Given the description of an element on the screen output the (x, y) to click on. 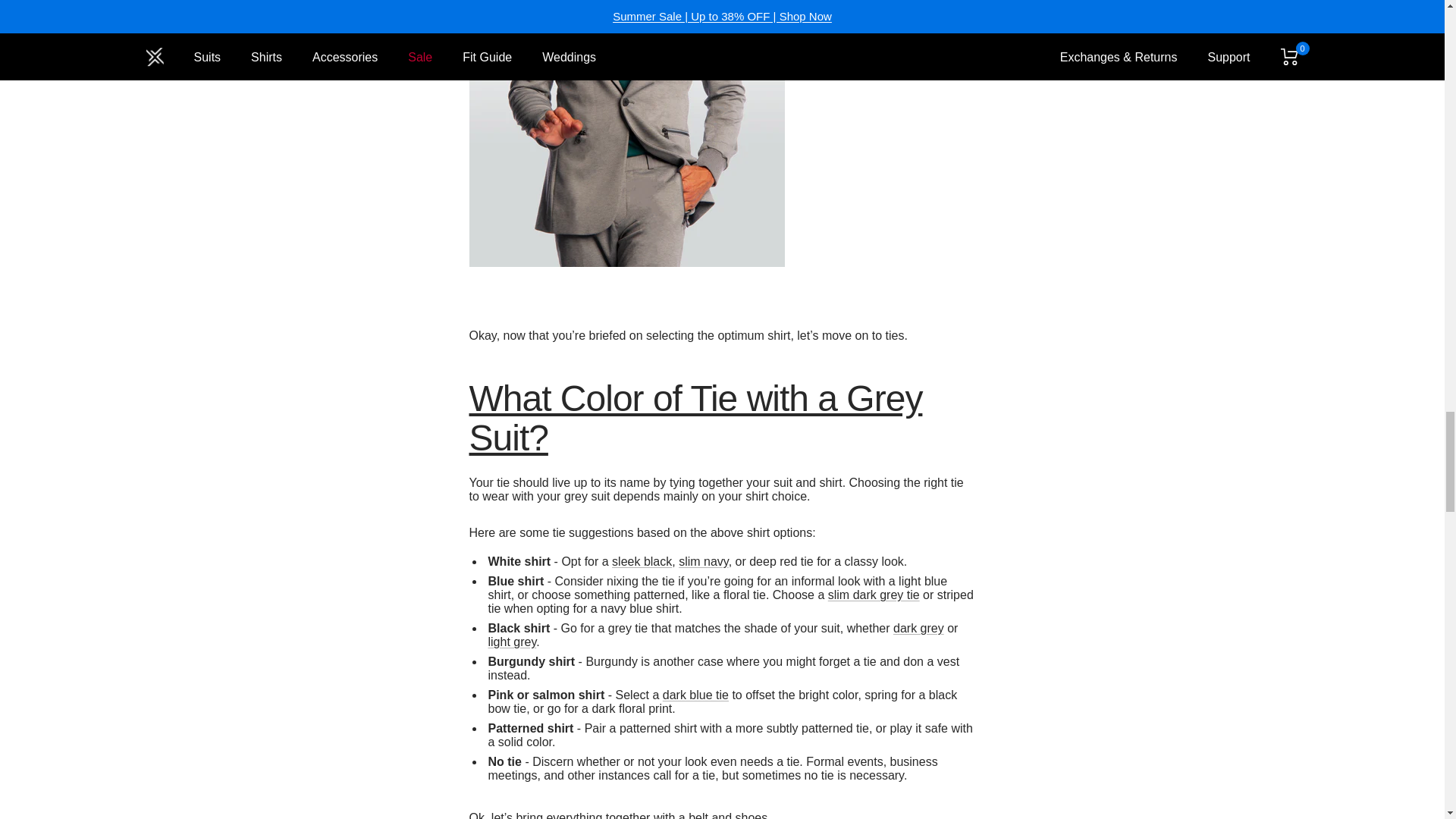
sleek black (641, 561)
